Given the description of an element on the screen output the (x, y) to click on. 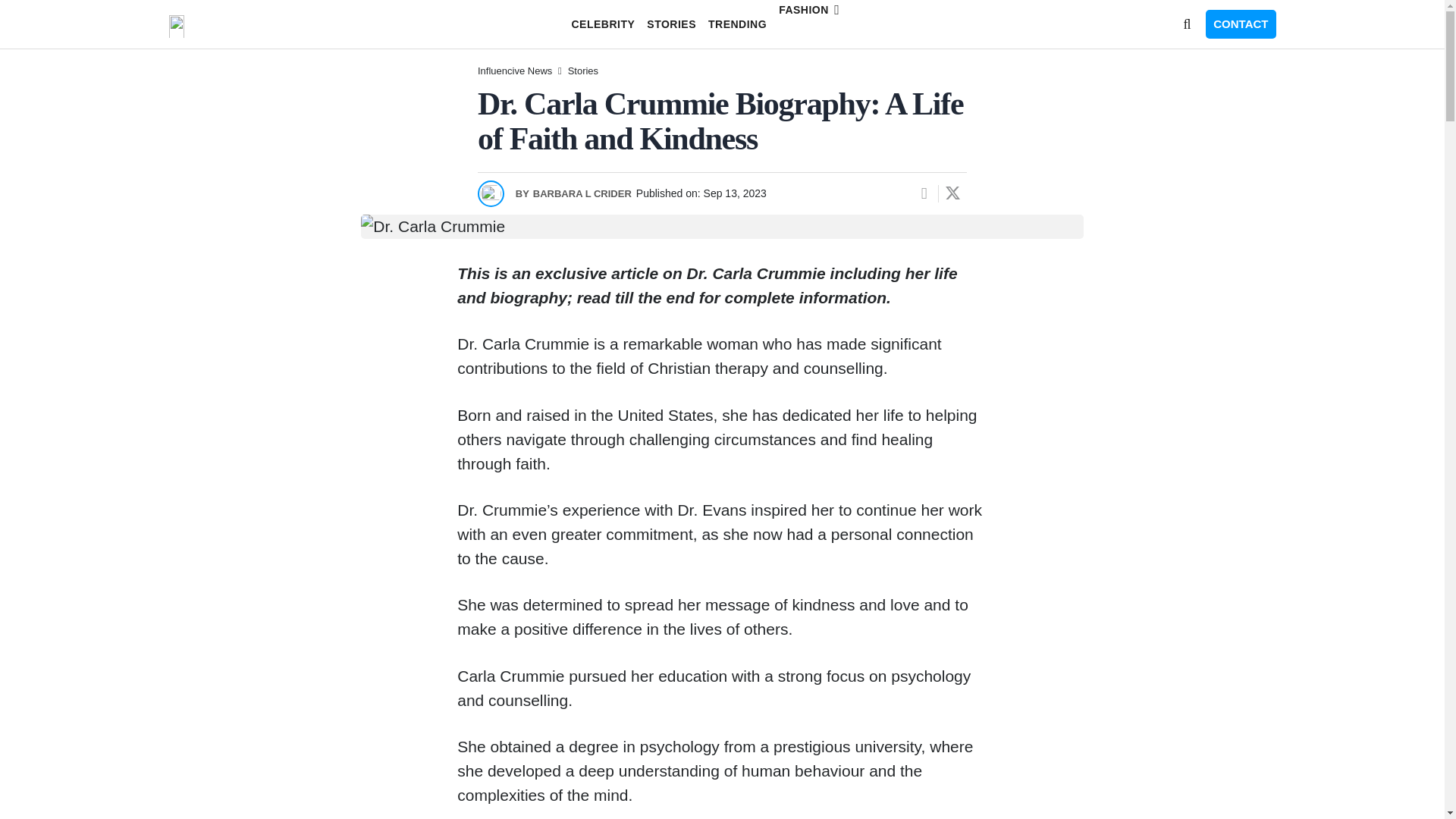
FASHION (826, 17)
STORIES (670, 24)
Share this (924, 193)
BARBARA L CRIDER (573, 193)
CONTACT (1240, 23)
Stories (582, 70)
CELEBRITY (602, 24)
Tweet this (952, 193)
TRENDING (737, 24)
Influencive News (514, 70)
